Given the description of an element on the screen output the (x, y) to click on. 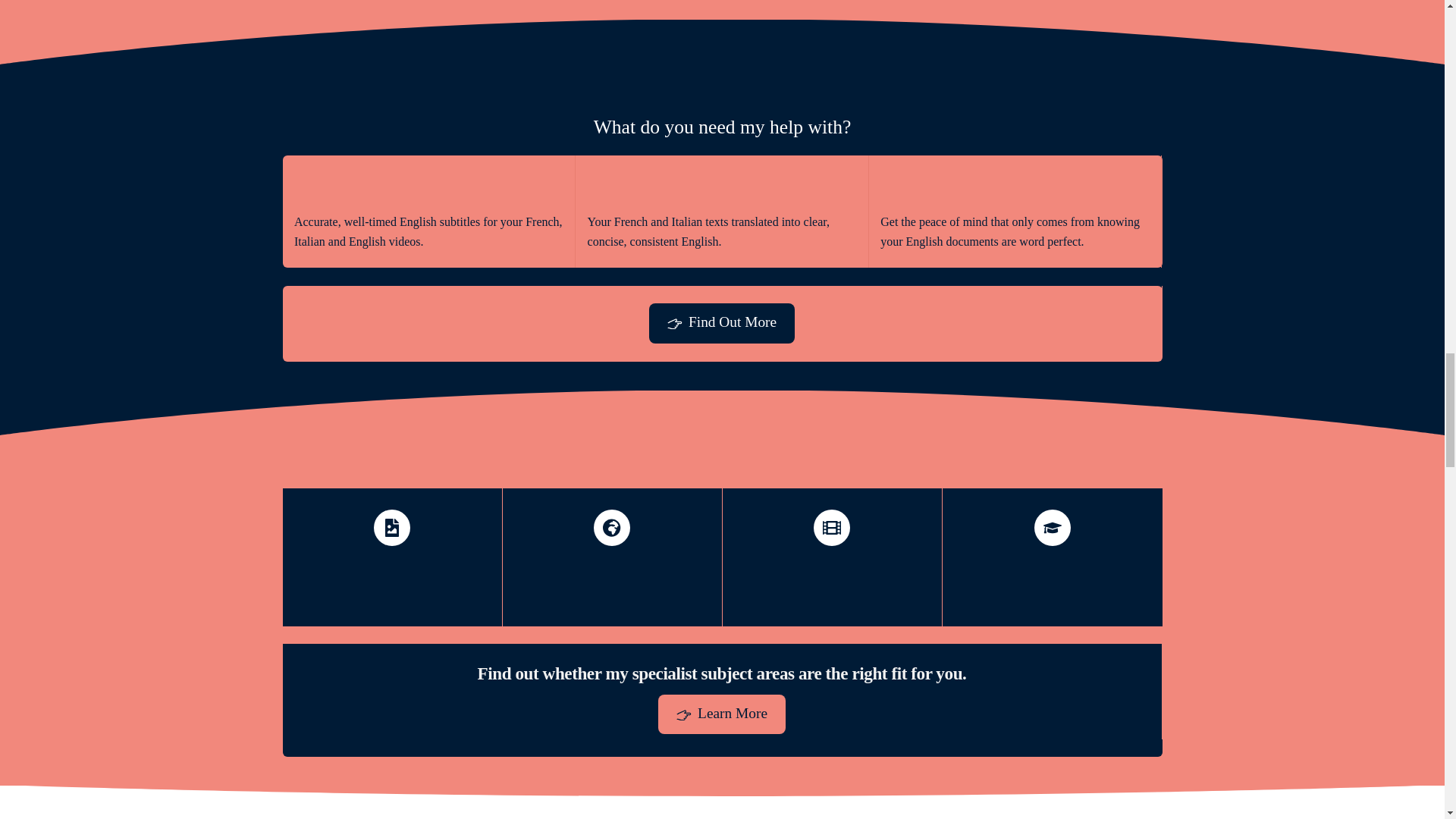
Learn More (722, 713)
Find Out More (721, 323)
